Given the description of an element on the screen output the (x, y) to click on. 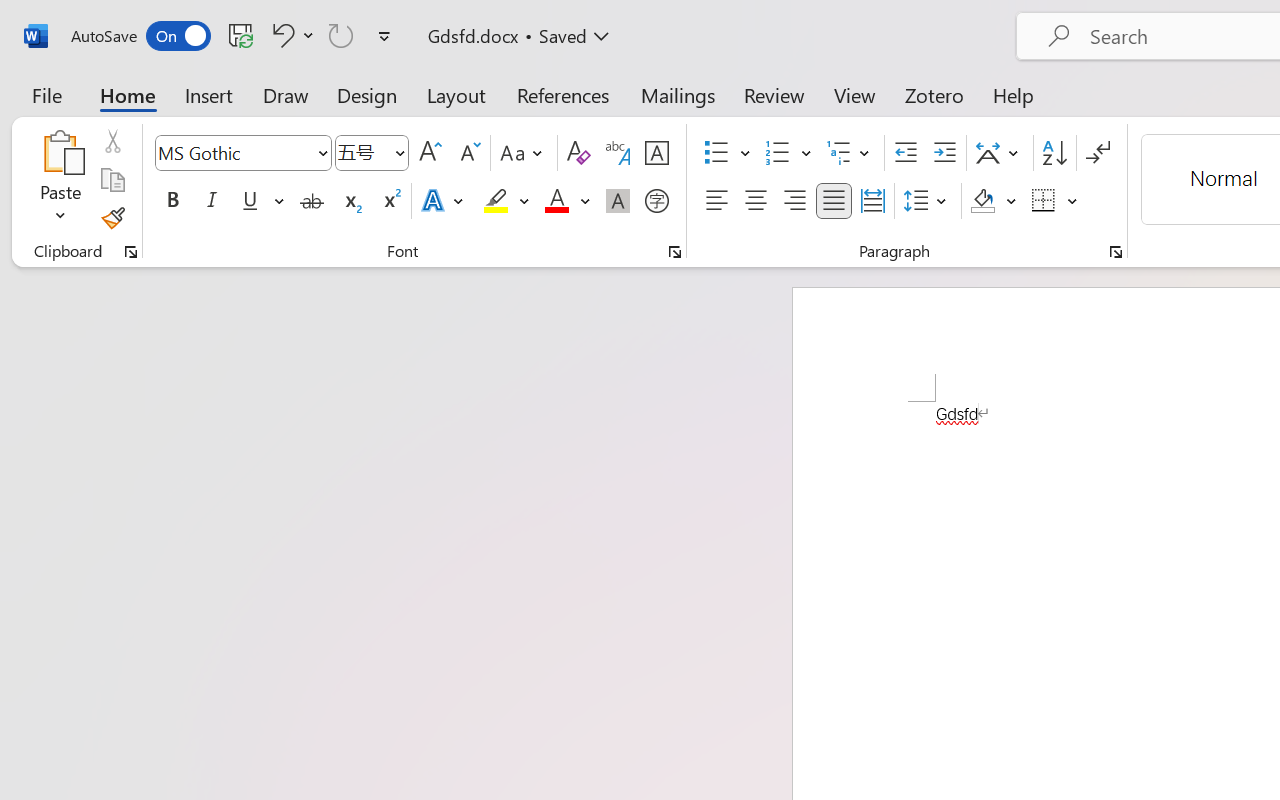
Undo Font Formatting (280, 35)
